Given the description of an element on the screen output the (x, y) to click on. 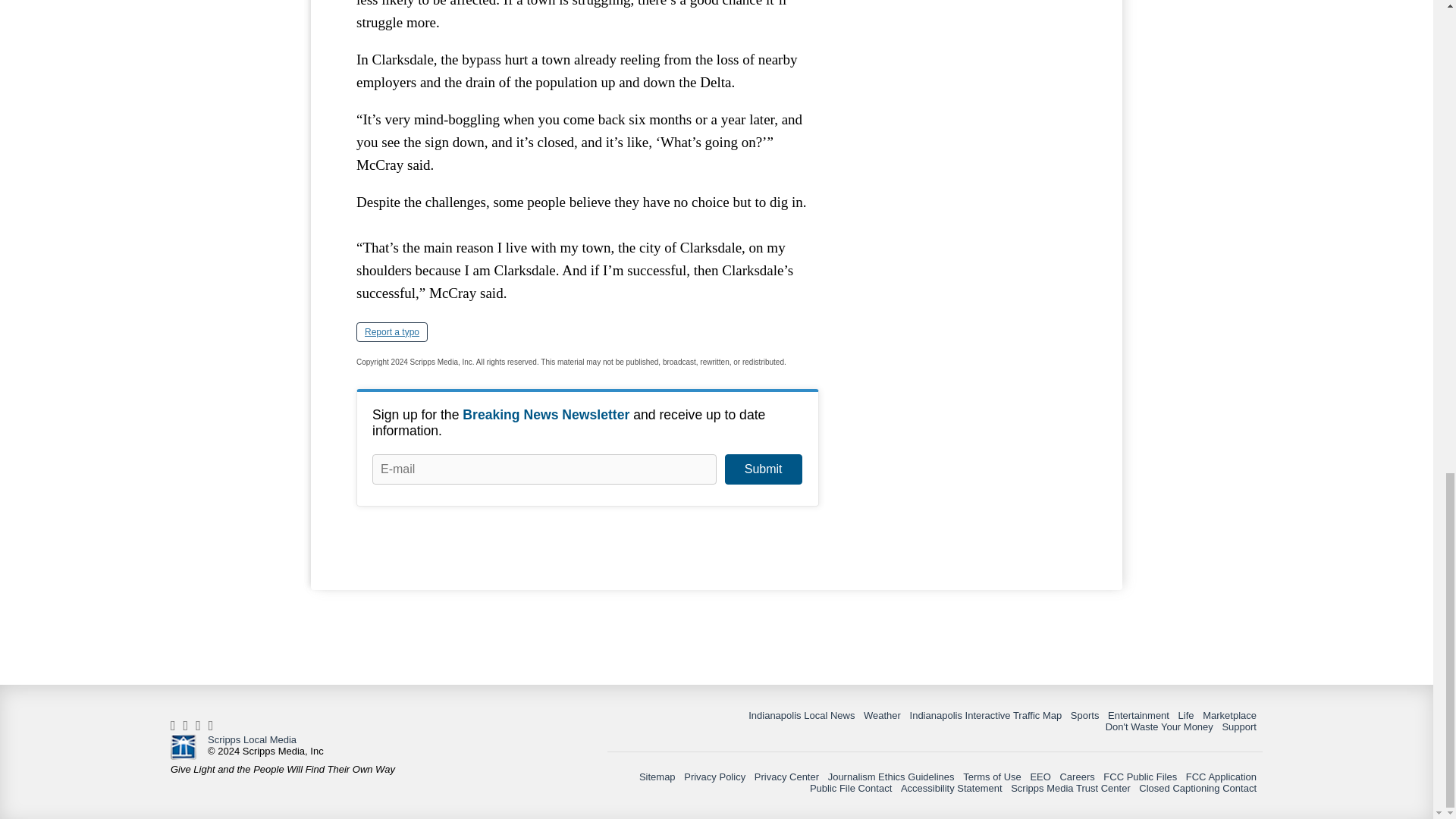
Submit (763, 469)
